Given the description of an element on the screen output the (x, y) to click on. 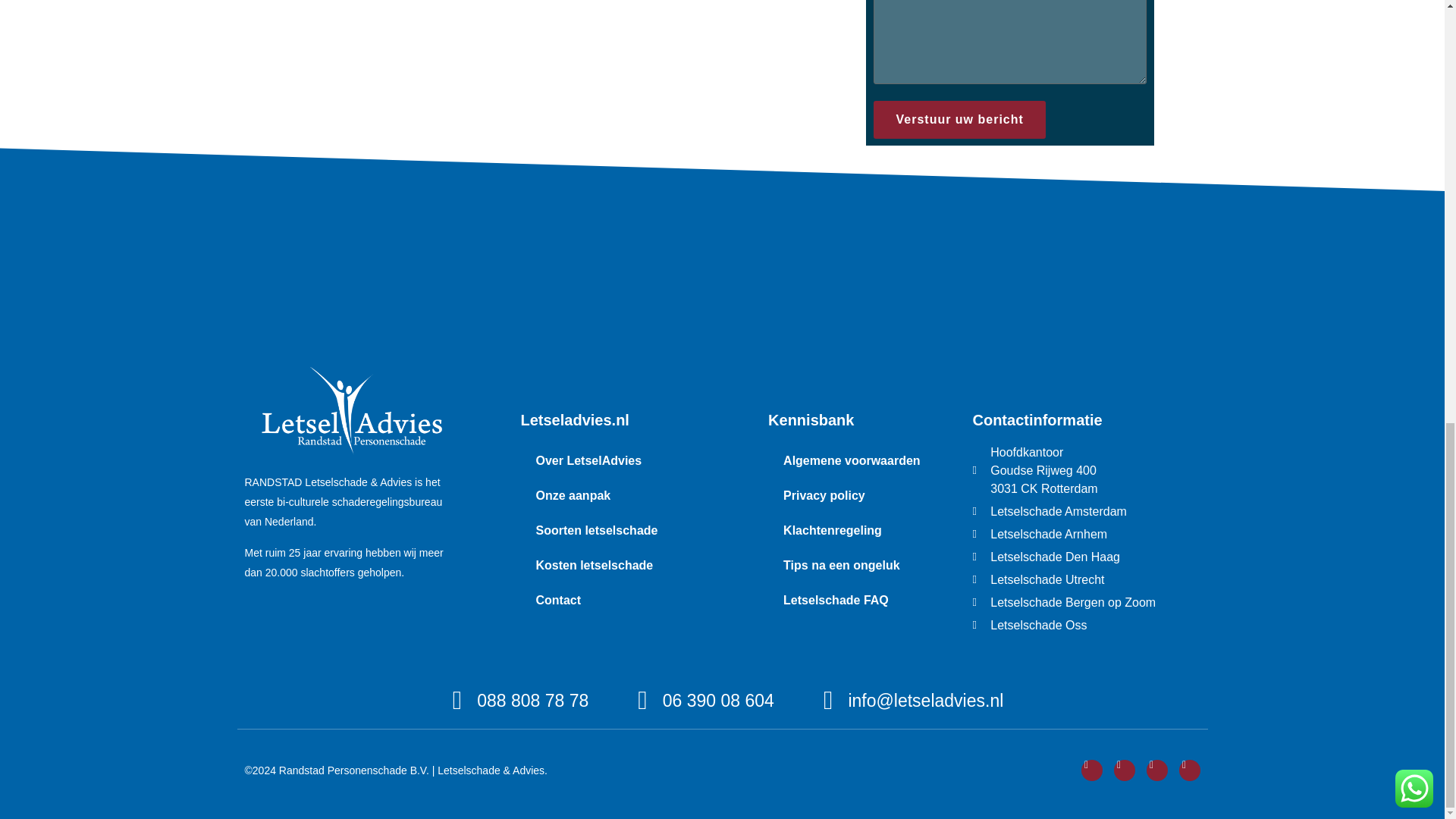
Verstuur uw bericht (959, 119)
